Given the description of an element on the screen output the (x, y) to click on. 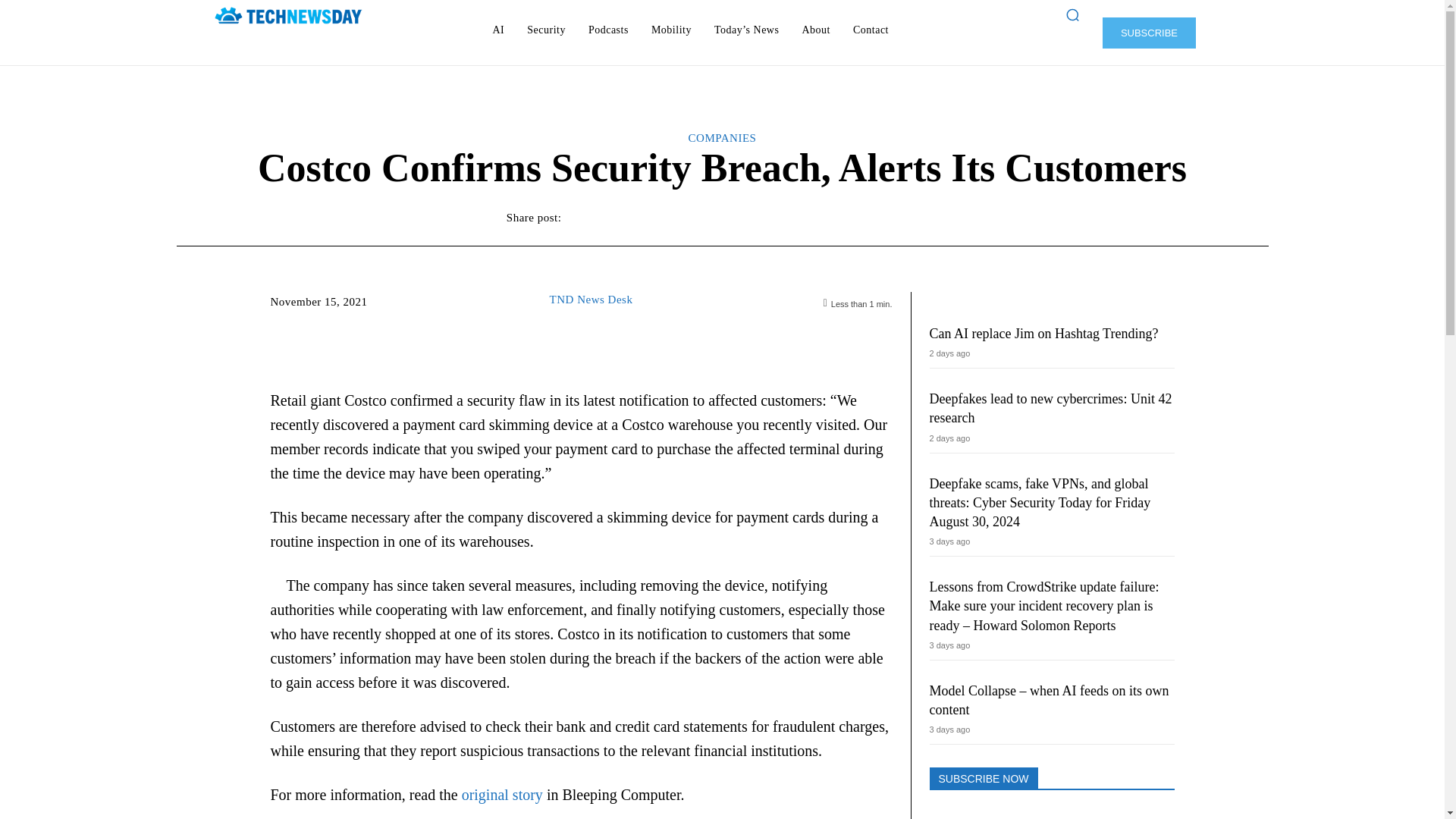
SUBSCRIBE (1148, 31)
Mobility (670, 30)
Podcasts (608, 30)
